Given the description of an element on the screen output the (x, y) to click on. 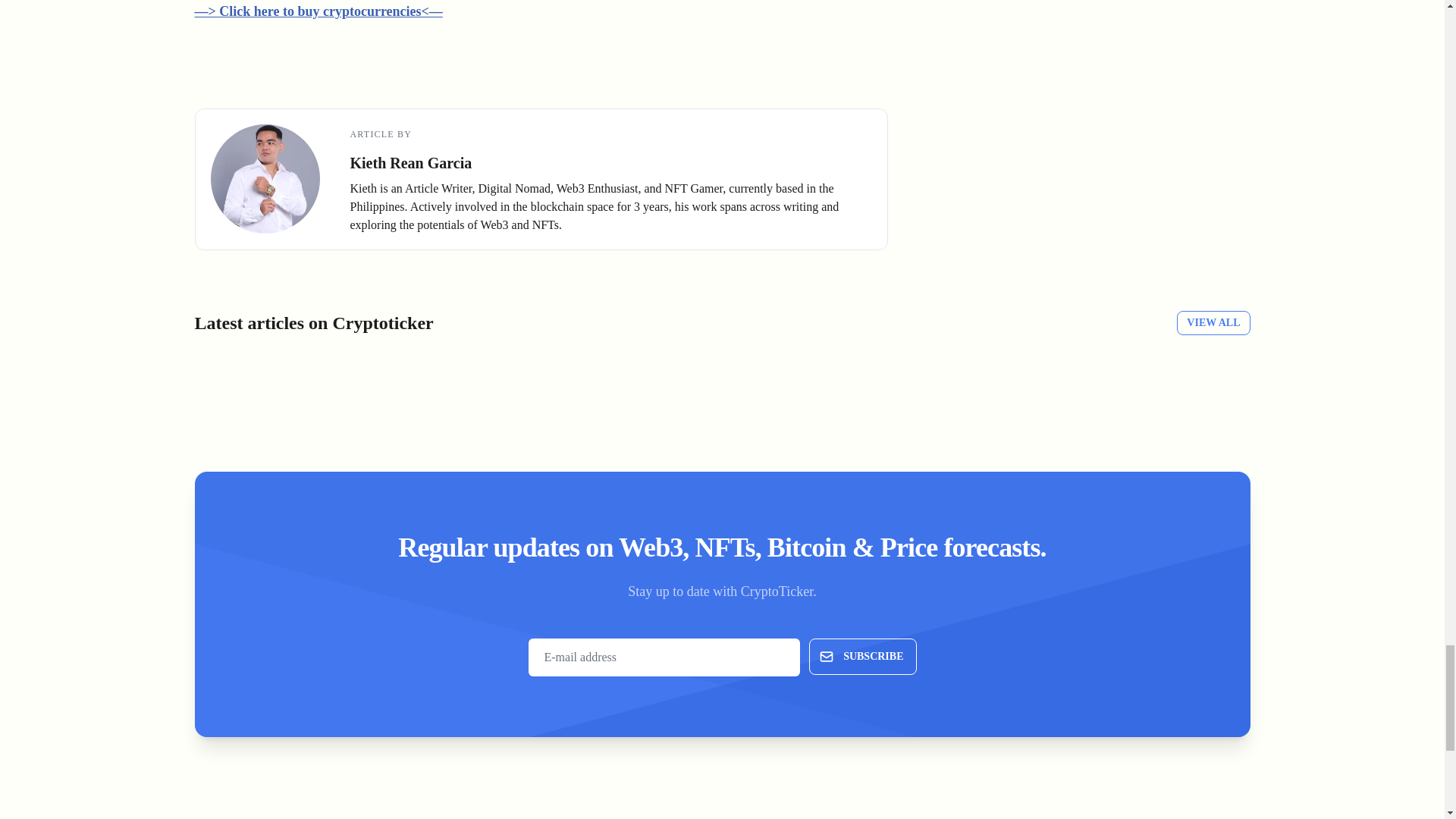
VIEW ALL (1212, 322)
SUBSCRIBE (862, 656)
